Given the description of an element on the screen output the (x, y) to click on. 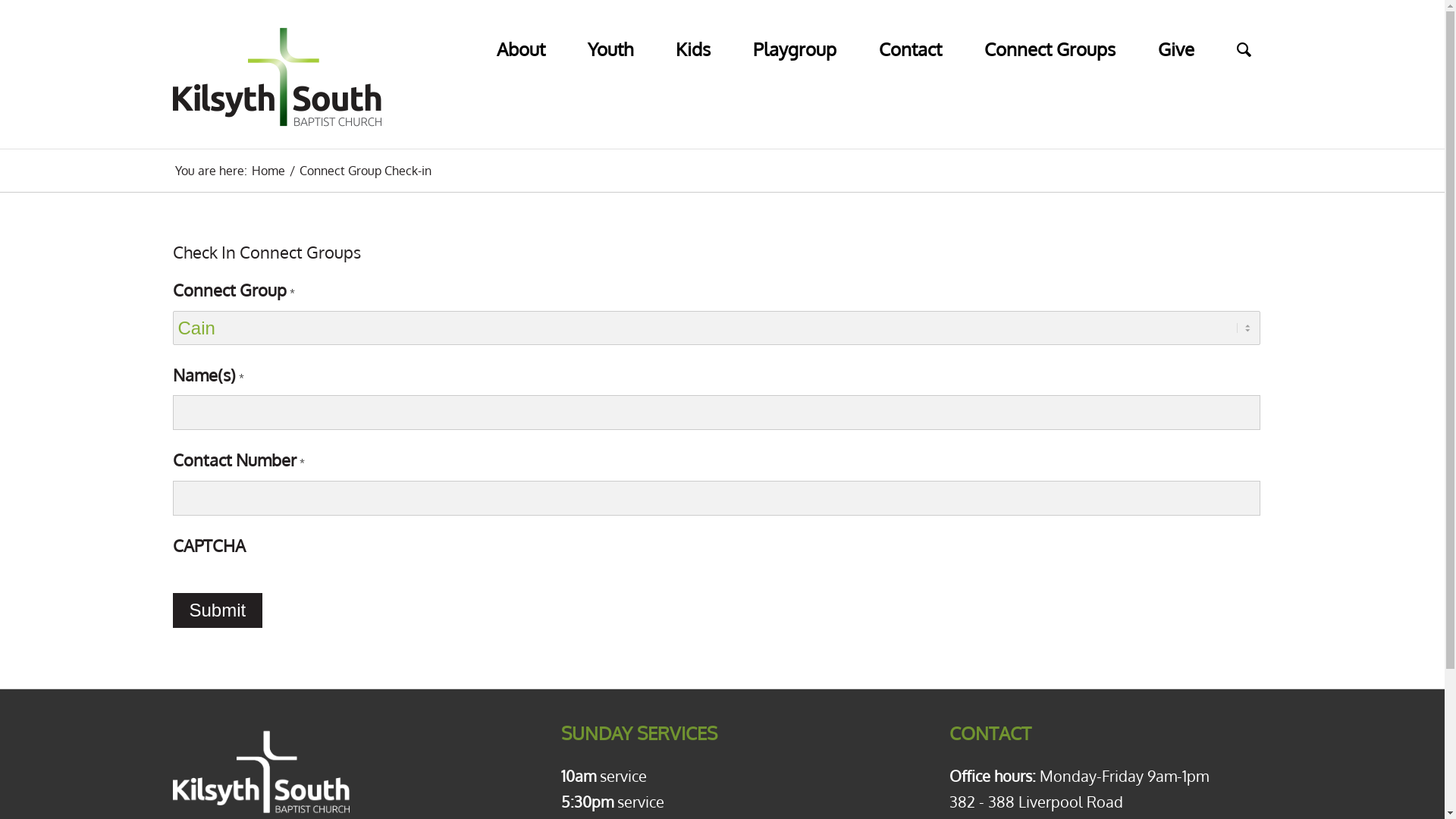
Connect Groups Element type: text (1049, 36)
Submit Element type: text (217, 610)
About Element type: text (519, 36)
Youth Element type: text (609, 36)
Give Element type: text (1174, 36)
Playgroup Element type: text (793, 36)
Contact Element type: text (909, 36)
Kids Element type: text (692, 36)
Home Element type: text (267, 170)
